Given the description of an element on the screen output the (x, y) to click on. 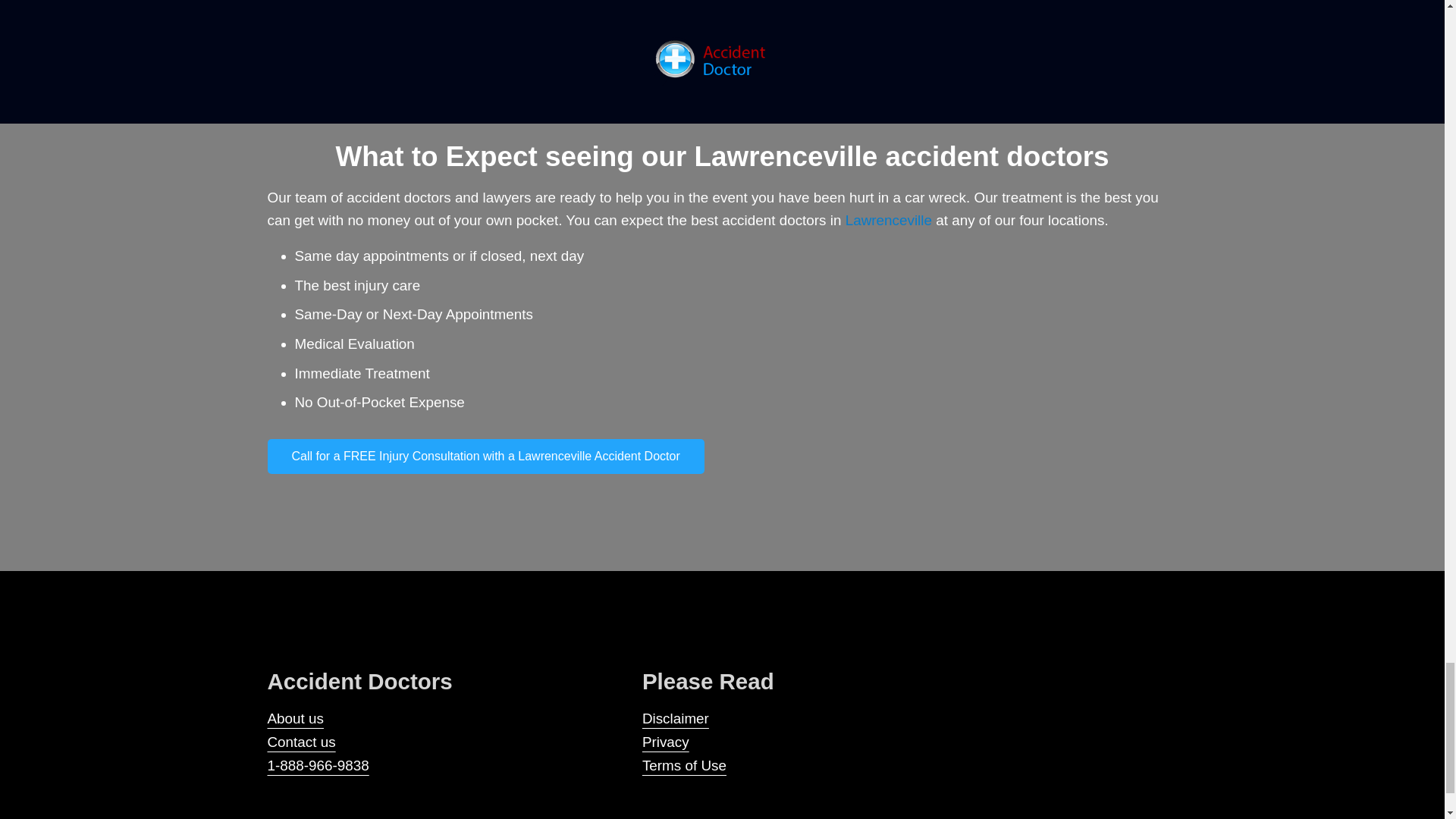
Contact us (300, 741)
Terms of Use (684, 765)
Disclaimer (675, 718)
1-888-966-9838 (317, 765)
Lawrenceville (888, 220)
Privacy (665, 741)
About us (294, 718)
